Given the description of an element on the screen output the (x, y) to click on. 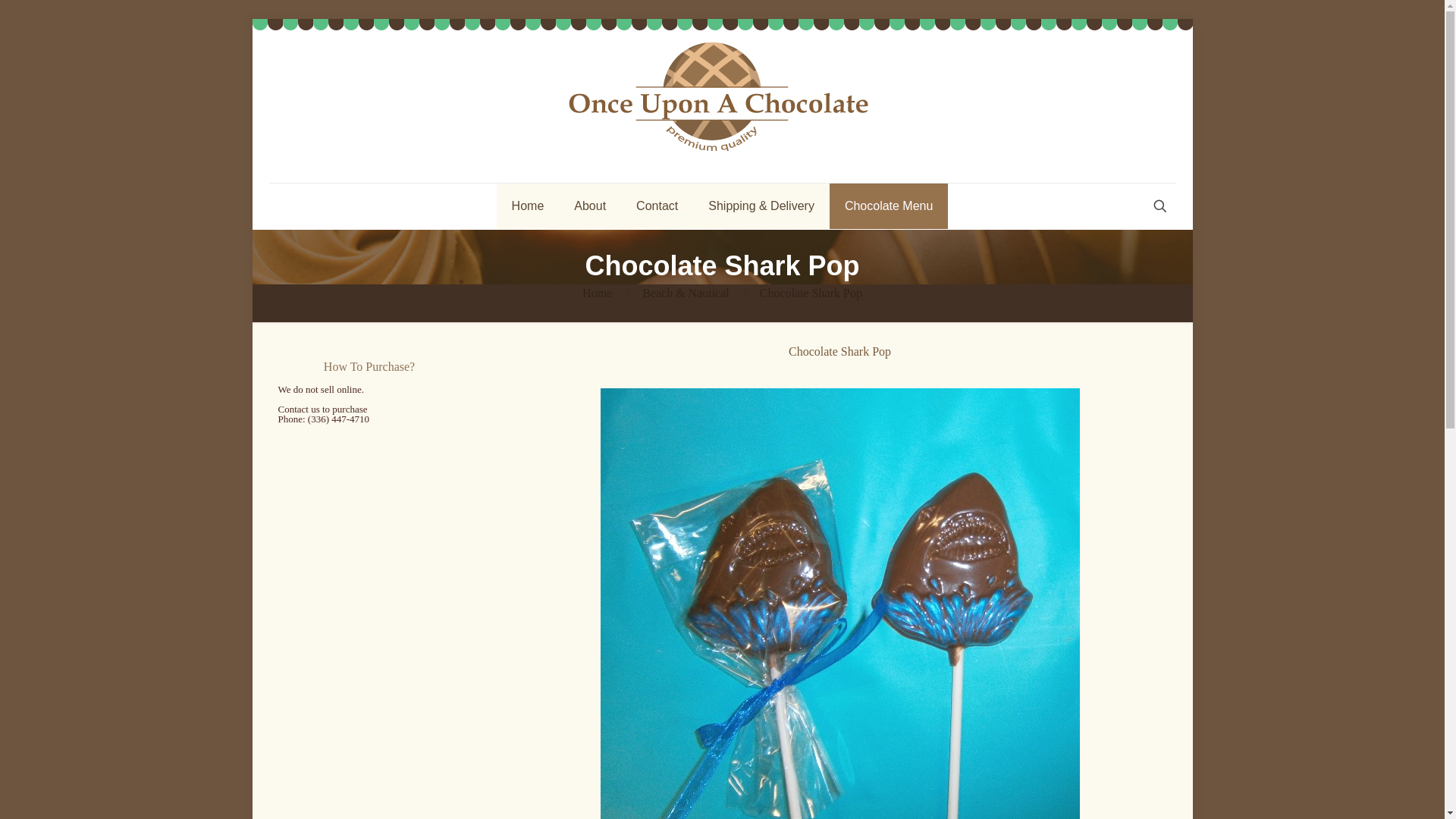
Contact (657, 206)
Chocolate Menu (889, 206)
About (590, 206)
Home (527, 206)
Home (596, 292)
